Given the description of an element on the screen output the (x, y) to click on. 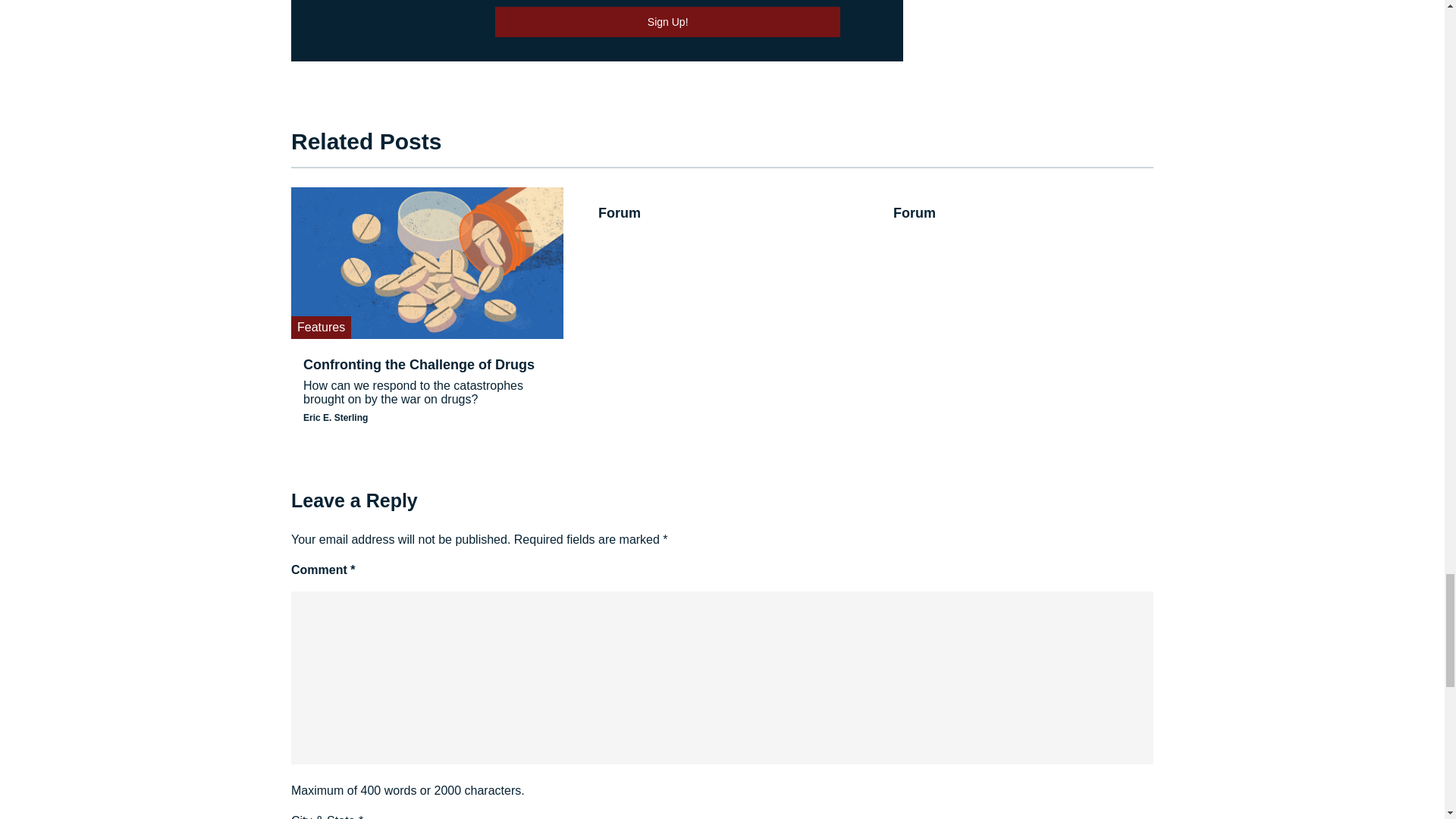
Sign Up! (667, 21)
Sign Up! (667, 21)
